Given the description of an element on the screen output the (x, y) to click on. 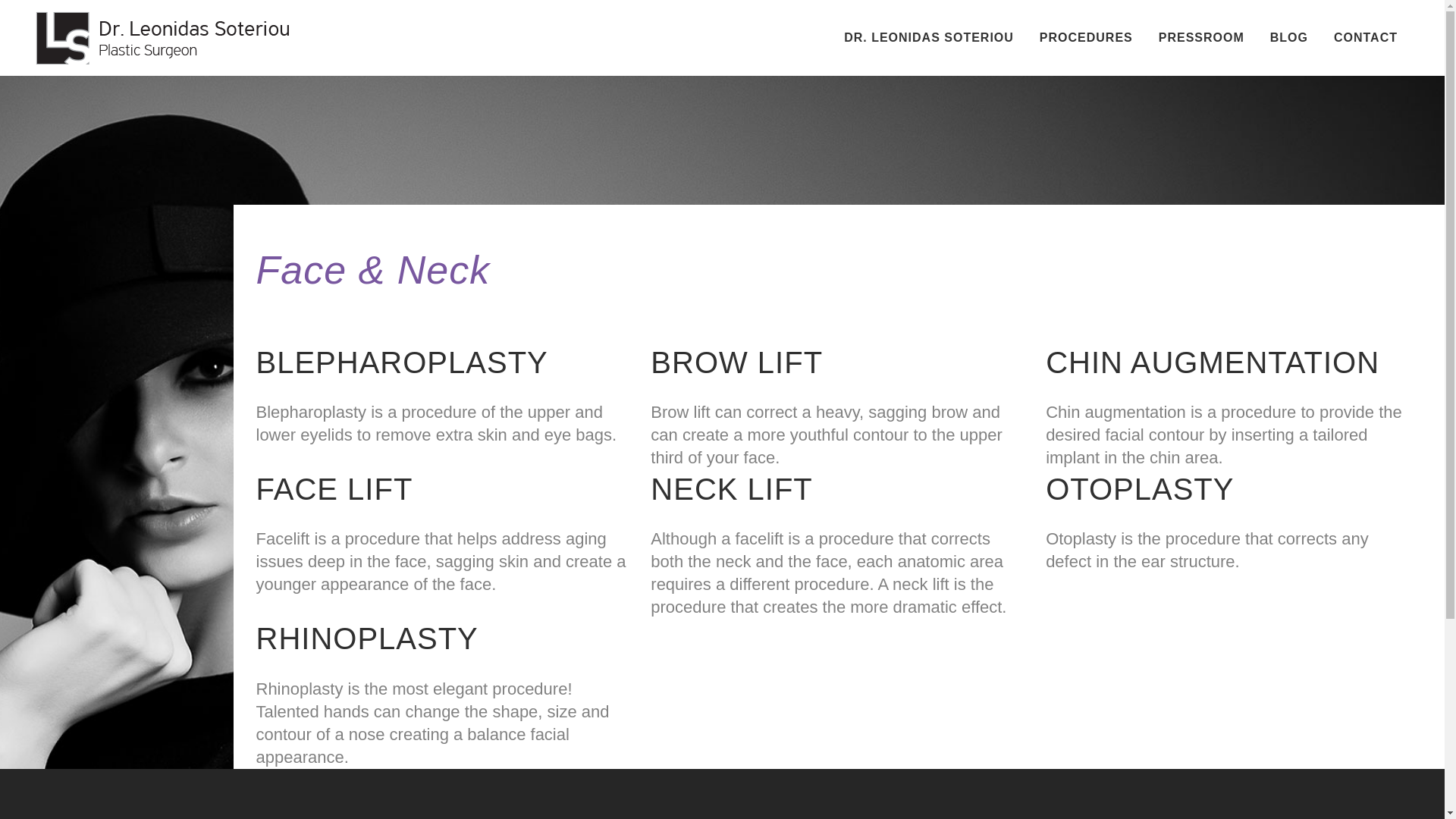
PRESSROOM (1201, 38)
DR. LEONIDAS SOTERIOU (928, 38)
BLOG (1288, 38)
CONTACT (1365, 38)
PROCEDURES (1085, 38)
